Given the description of an element on the screen output the (x, y) to click on. 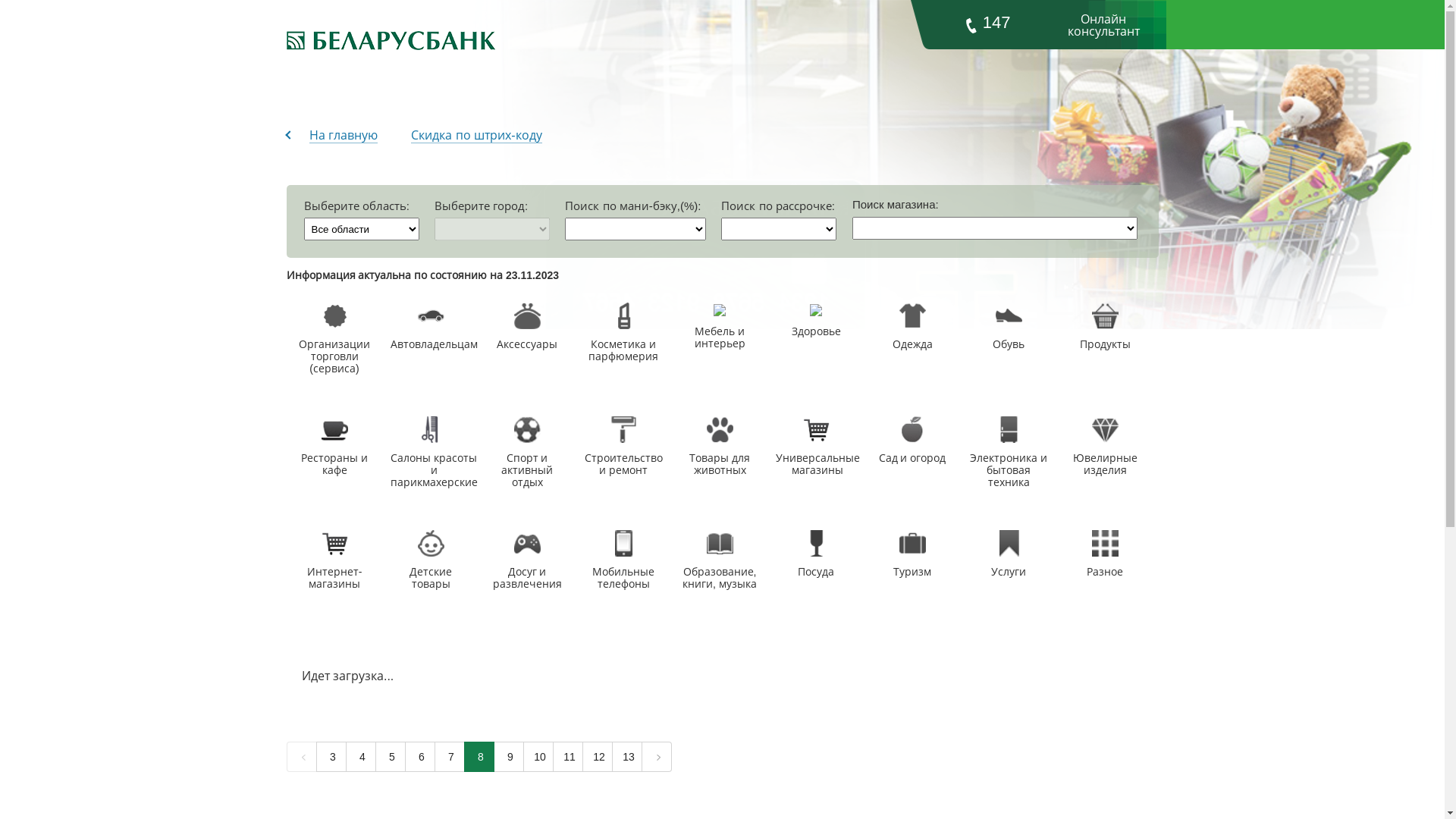
147 Element type: text (986, 23)
10 Element type: text (538, 756)
12 Element type: text (597, 756)
5 Element type: text (389, 756)
7 Element type: text (448, 756)
3 Element type: text (330, 756)
6 Element type: text (419, 756)
13 Element type: text (626, 756)
4 Element type: text (360, 756)
11 Element type: text (567, 756)
9 Element type: text (507, 756)
